Given the description of an element on the screen output the (x, y) to click on. 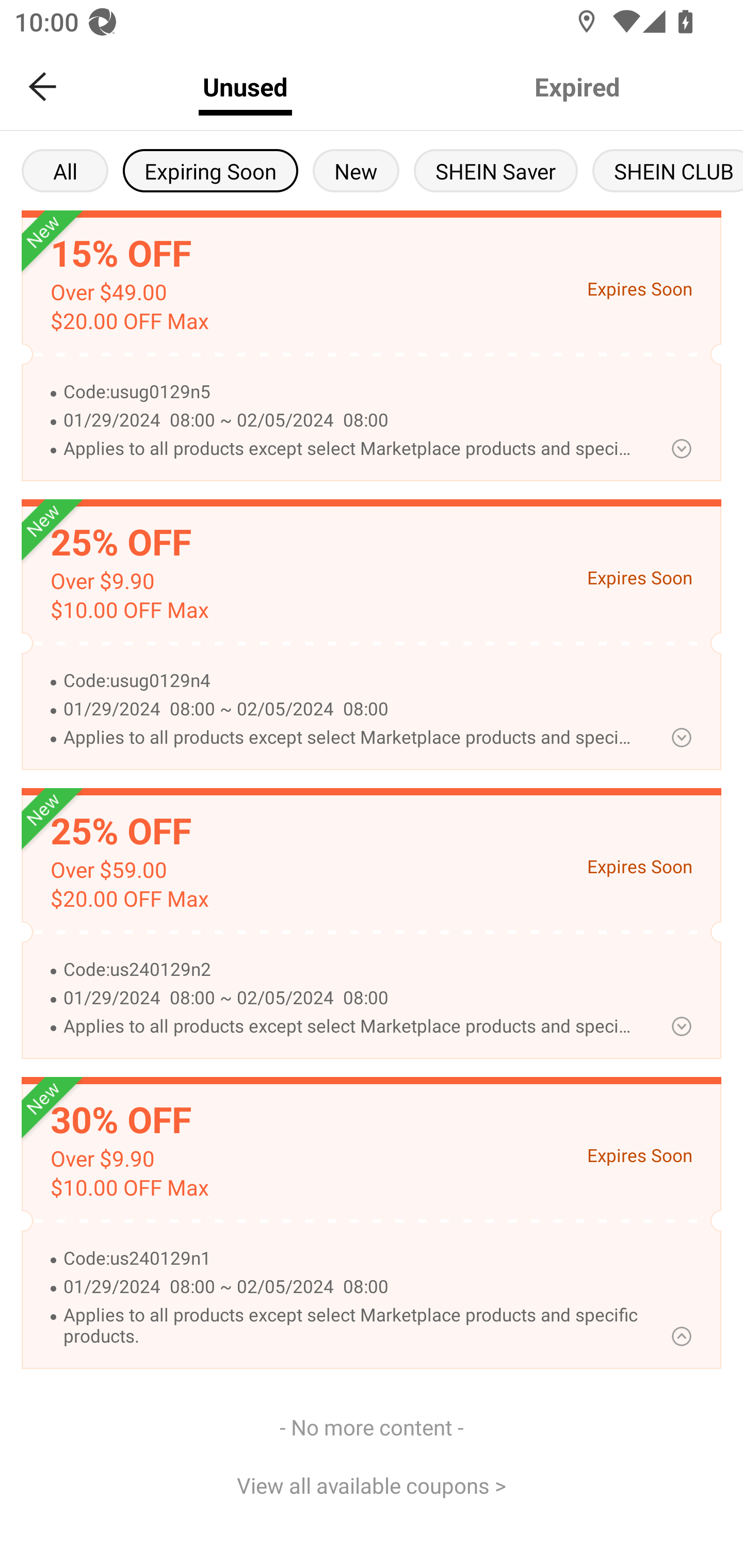
Unused (244, 86)
Expired (576, 86)
All (64, 170)
Expiring Soon (209, 170)
New (355, 170)
SHEIN Saver (495, 170)
SHEIN CLUB (667, 170)
$20.00 OFF Max (129, 320)
Code:usug0129n5 (350, 391)
01/29/2024  08:00 ~ 02/05/2024  08:00 (350, 420)
view more (681, 448)
$10.00 OFF Max (129, 609)
Code:usug0129n4 (350, 681)
01/29/2024  08:00 ~ 02/05/2024  08:00 (350, 709)
view more (681, 737)
$20.00 OFF Max (129, 898)
Code:us240129n2 (350, 969)
01/29/2024  08:00 ~ 02/05/2024  08:00 (350, 997)
view more (681, 1026)
$10.00 OFF Max (129, 1188)
Code:us240129n1 (350, 1259)
01/29/2024  08:00 ~ 02/05/2024  08:00 (350, 1287)
Pack up (681, 1335)
View all available coupons > (371, 1485)
